Given the description of an element on the screen output the (x, y) to click on. 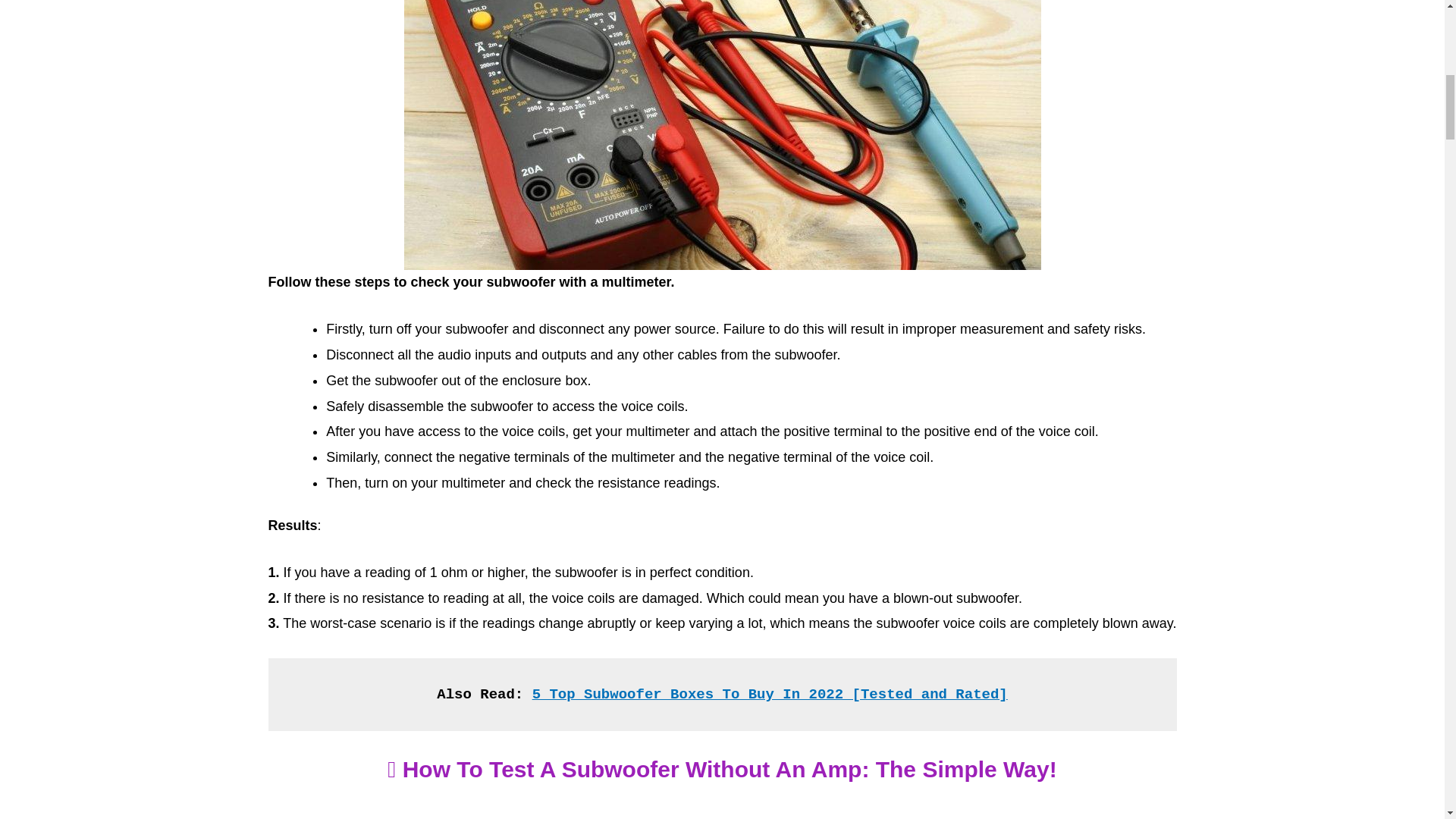
How To Test A Subwoofer: A Comprehensive Guide in 2022 (722, 809)
